Given the description of an element on the screen output the (x, y) to click on. 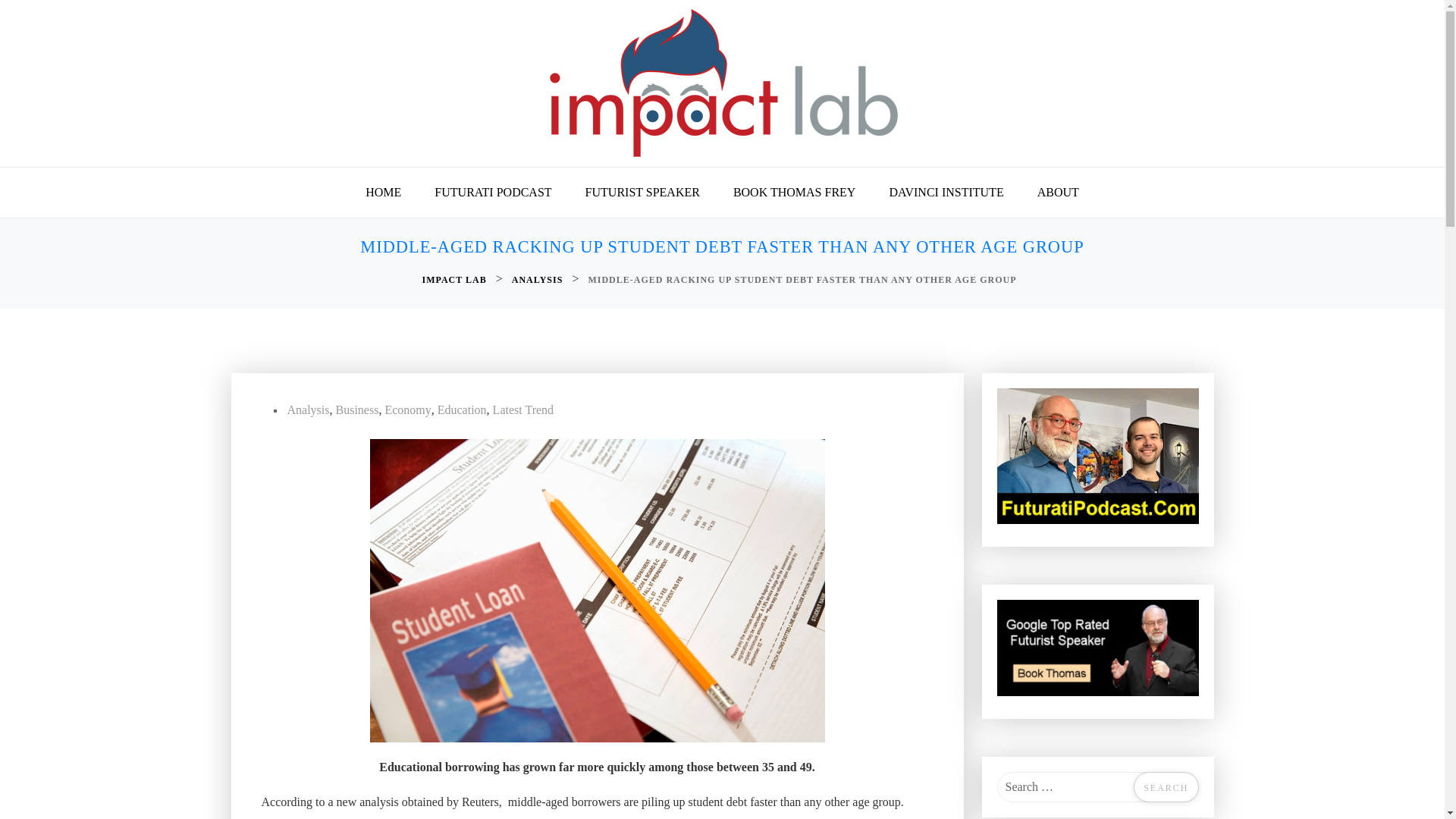
IMPACT LAB (455, 279)
FUTURATI PODCAST (492, 192)
Search (1166, 787)
Analysis (307, 410)
ANALYSIS (539, 279)
BOOK THOMAS FREY (793, 192)
HOME (383, 192)
Search (1166, 787)
ABOUT (1058, 192)
